Given the description of an element on the screen output the (x, y) to click on. 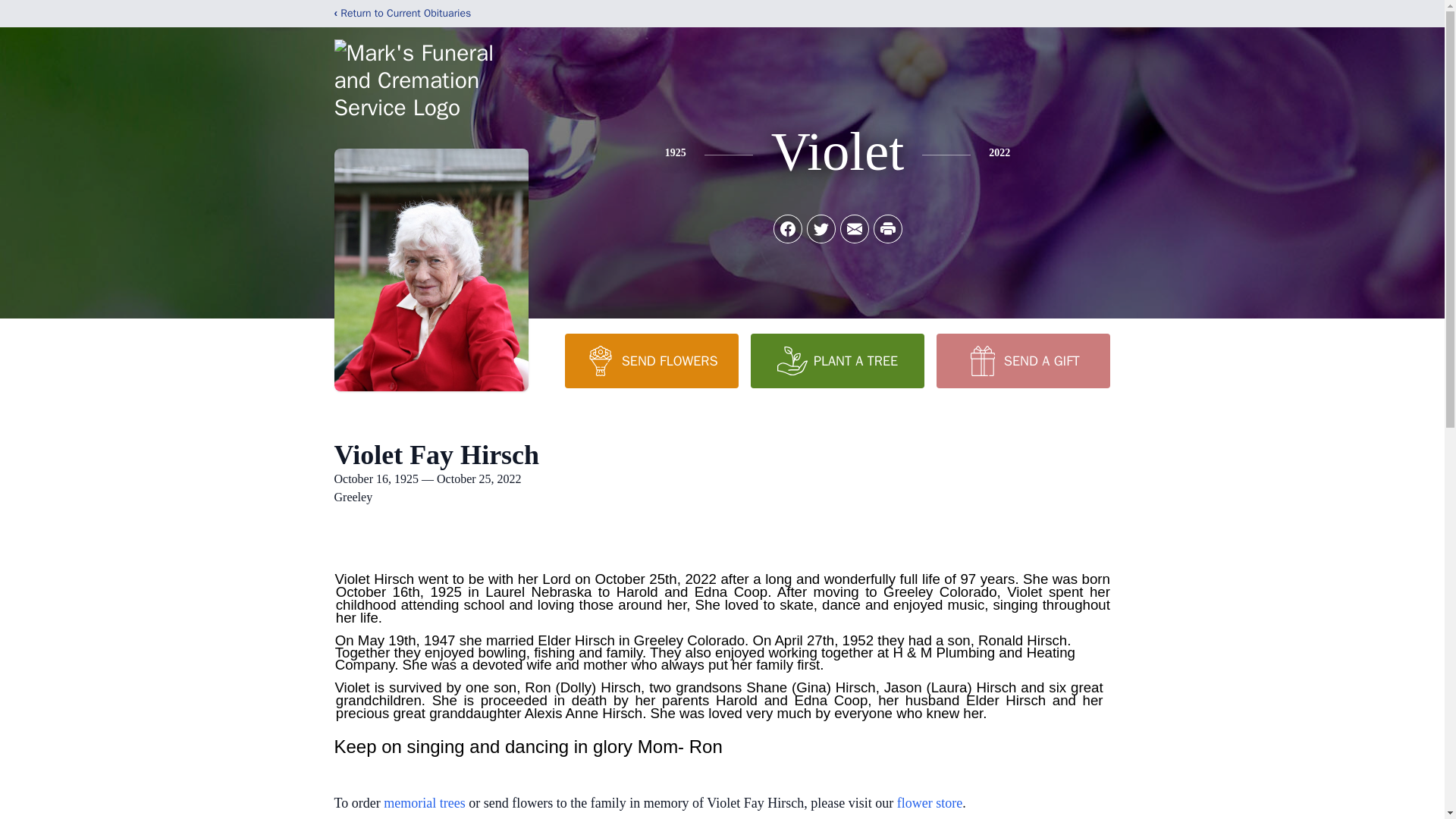
memorial trees (424, 802)
PLANT A TREE (837, 360)
flower store (929, 802)
SEND A GIFT (1022, 360)
SEND FLOWERS (651, 360)
